Given the description of an element on the screen output the (x, y) to click on. 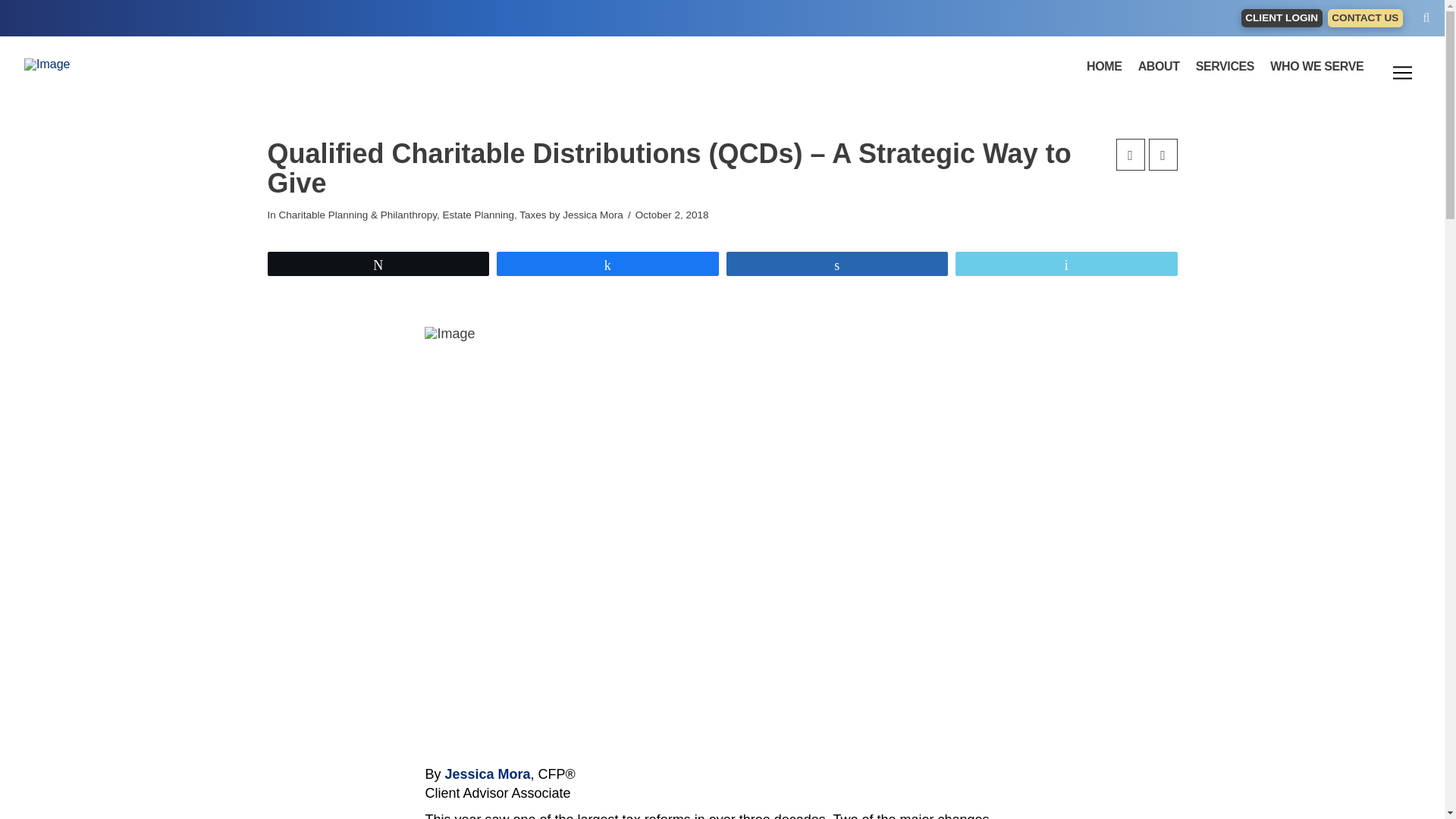
Estate Planning (477, 214)
CONTACT US (1365, 18)
WHO WE SERVE (1316, 66)
ABOUT (1158, 66)
SERVICES (1225, 66)
CLIENT LOGIN (1281, 18)
Jessica Mora (486, 774)
Taxes (532, 214)
